Given the description of an element on the screen output the (x, y) to click on. 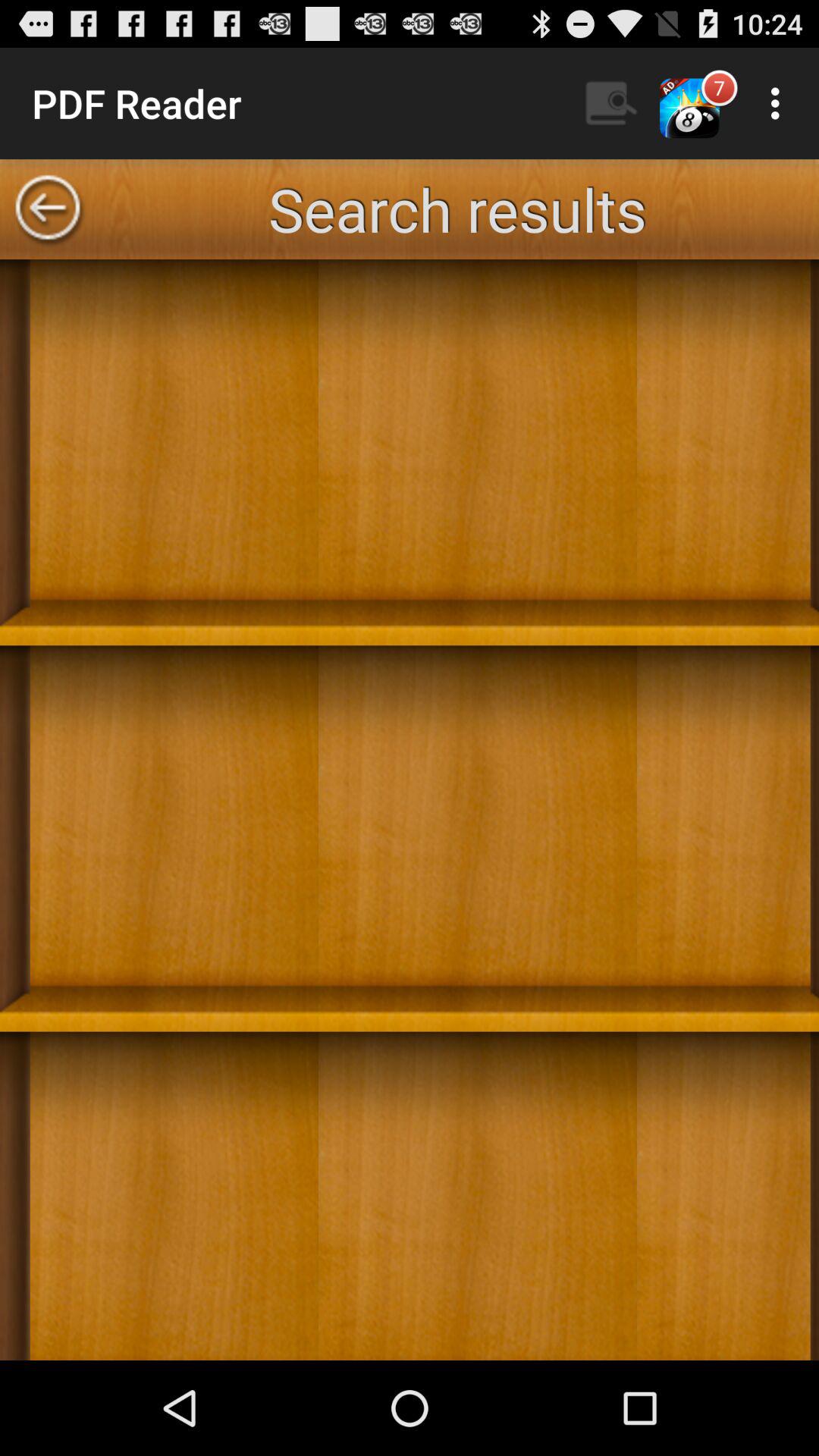
turn off the item to the right of 7 (779, 103)
